Given the description of an element on the screen output the (x, y) to click on. 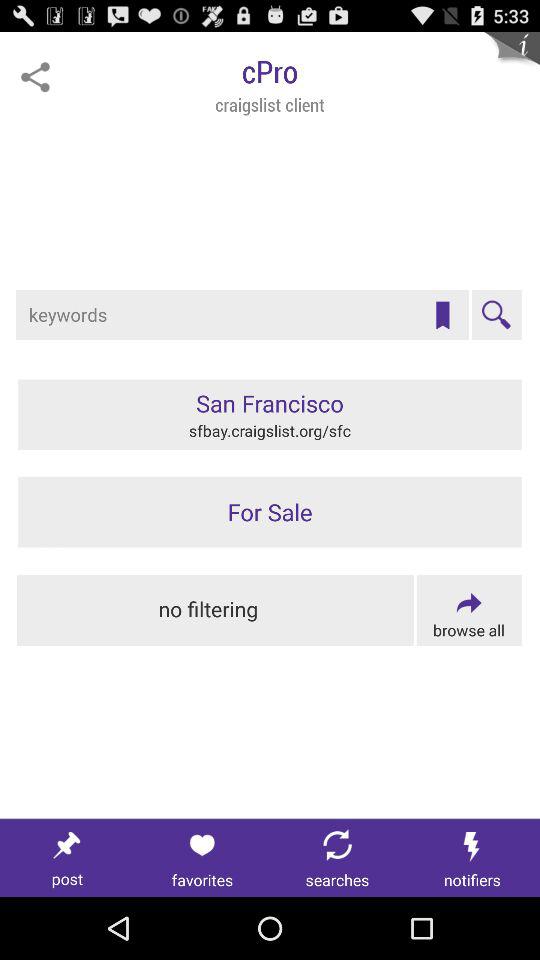
browse all (468, 610)
